Given the description of an element on the screen output the (x, y) to click on. 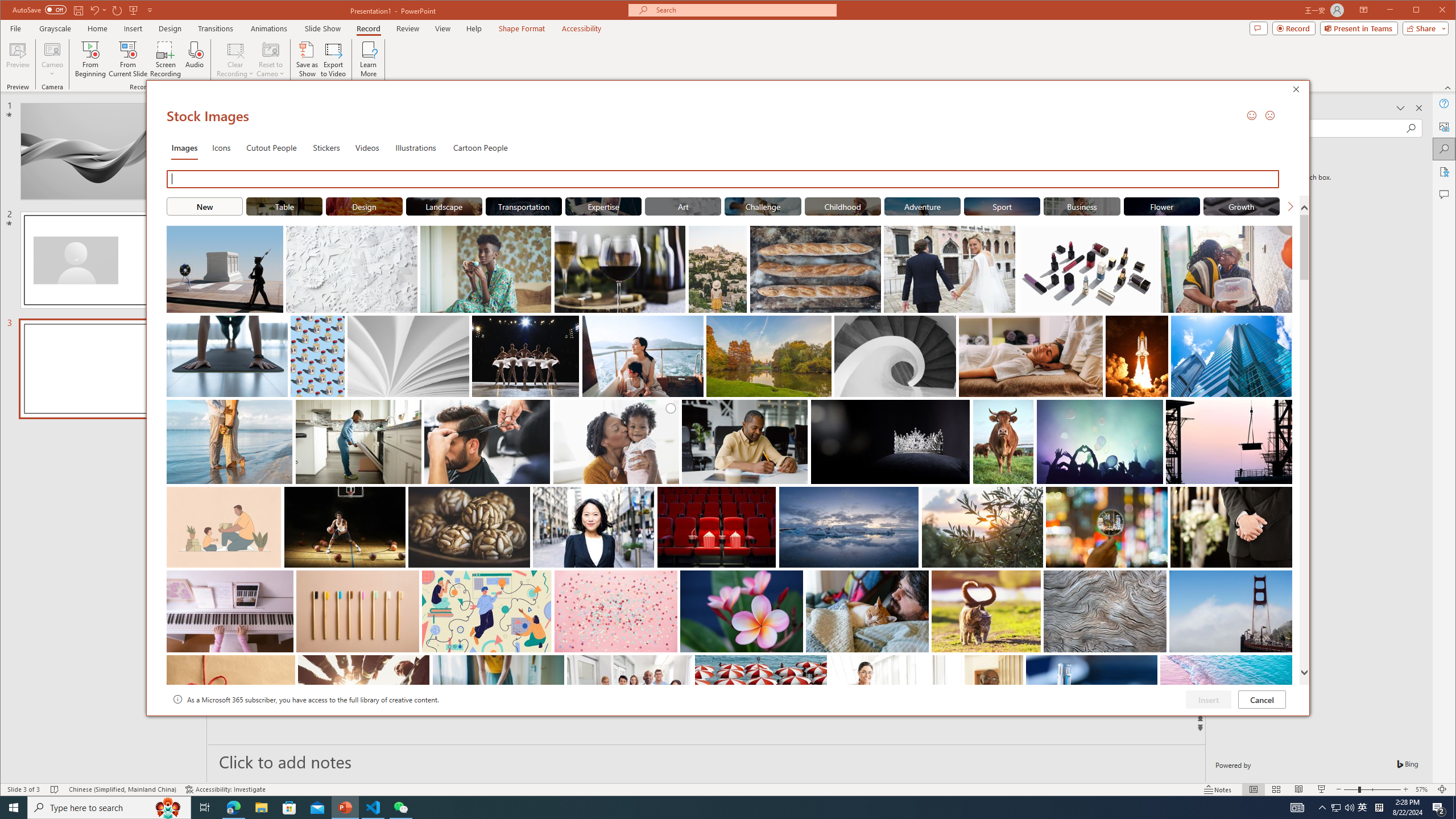
Maximize (1432, 11)
Screen Recording (165, 59)
Images (183, 147)
WeChat - 1 running window (400, 807)
"Growth" Stock Images. (1241, 206)
Running applications (707, 807)
